Given the description of an element on the screen output the (x, y) to click on. 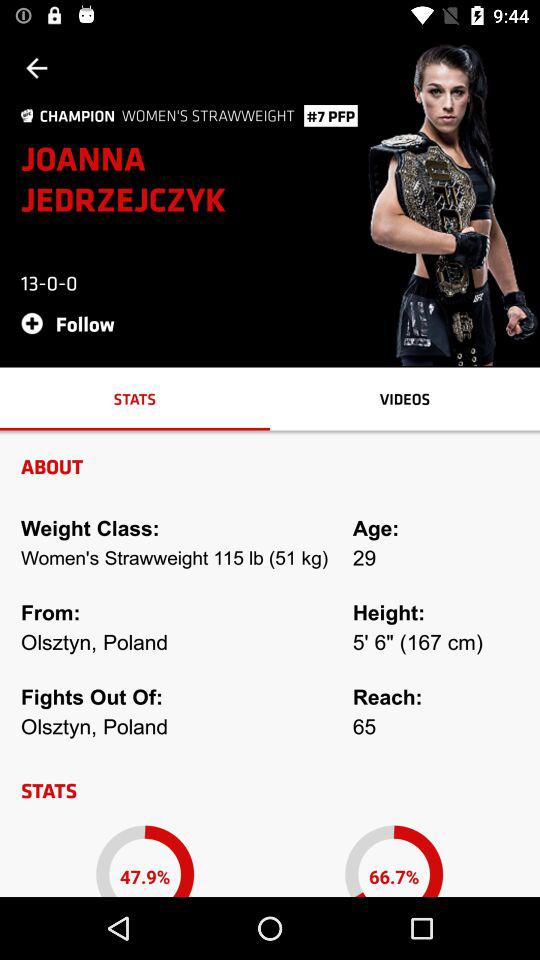
open follow item (74, 322)
